Given the description of an element on the screen output the (x, y) to click on. 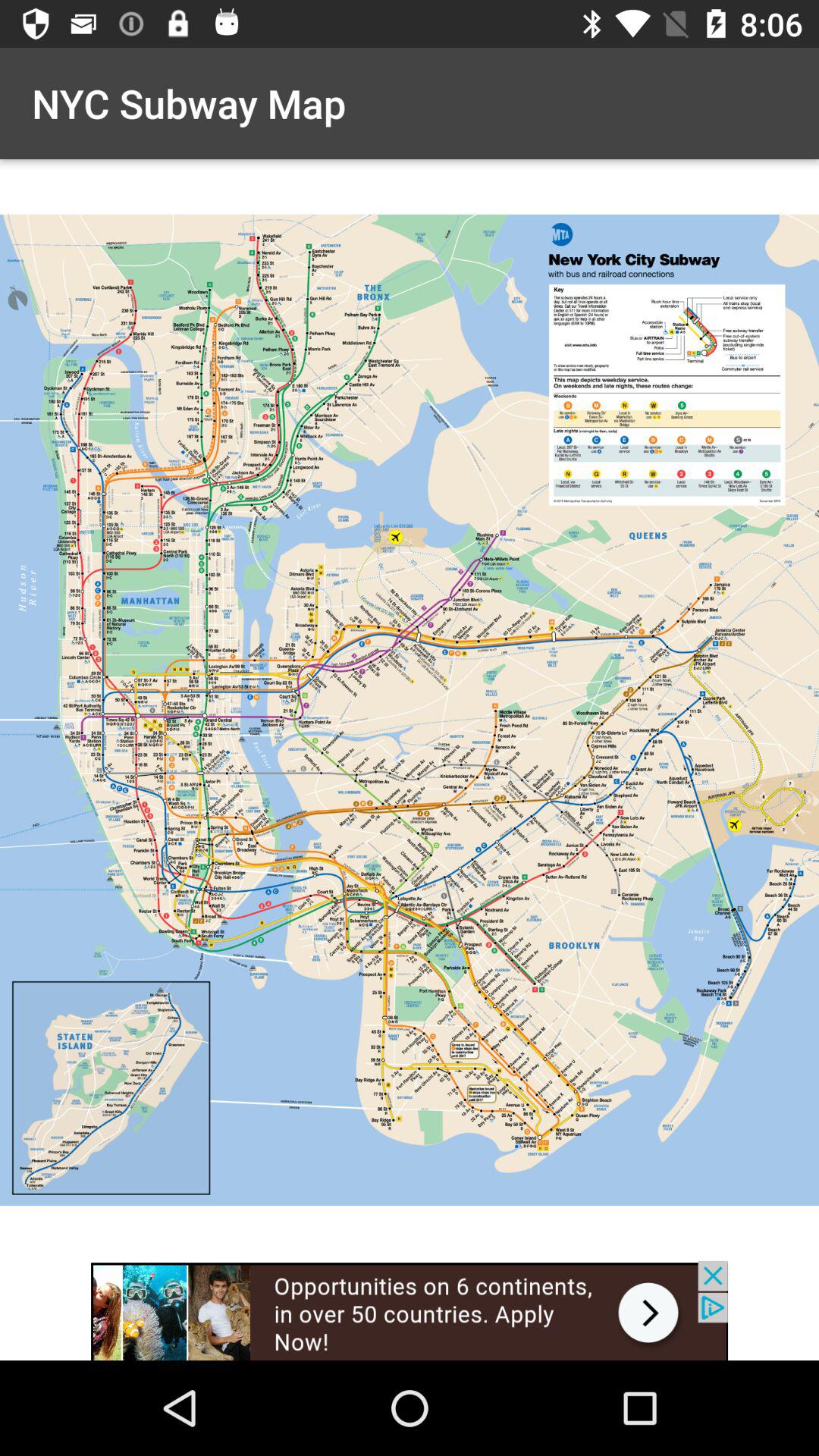
view advertisement (409, 1310)
